Given the description of an element on the screen output the (x, y) to click on. 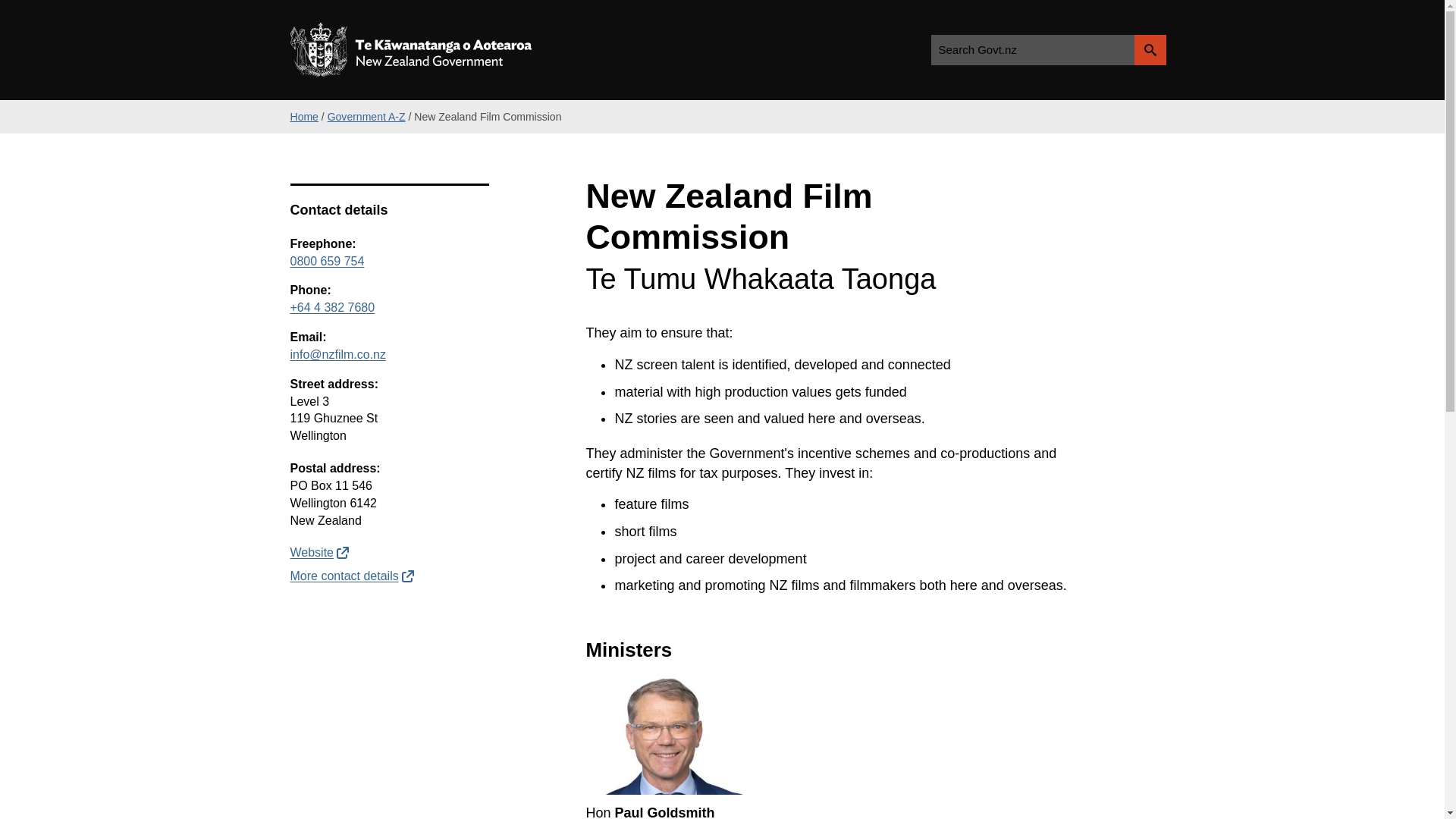
Government A-Z (366, 116)
0800 659 754 (326, 260)
Home (303, 116)
